Given the description of an element on the screen output the (x, y) to click on. 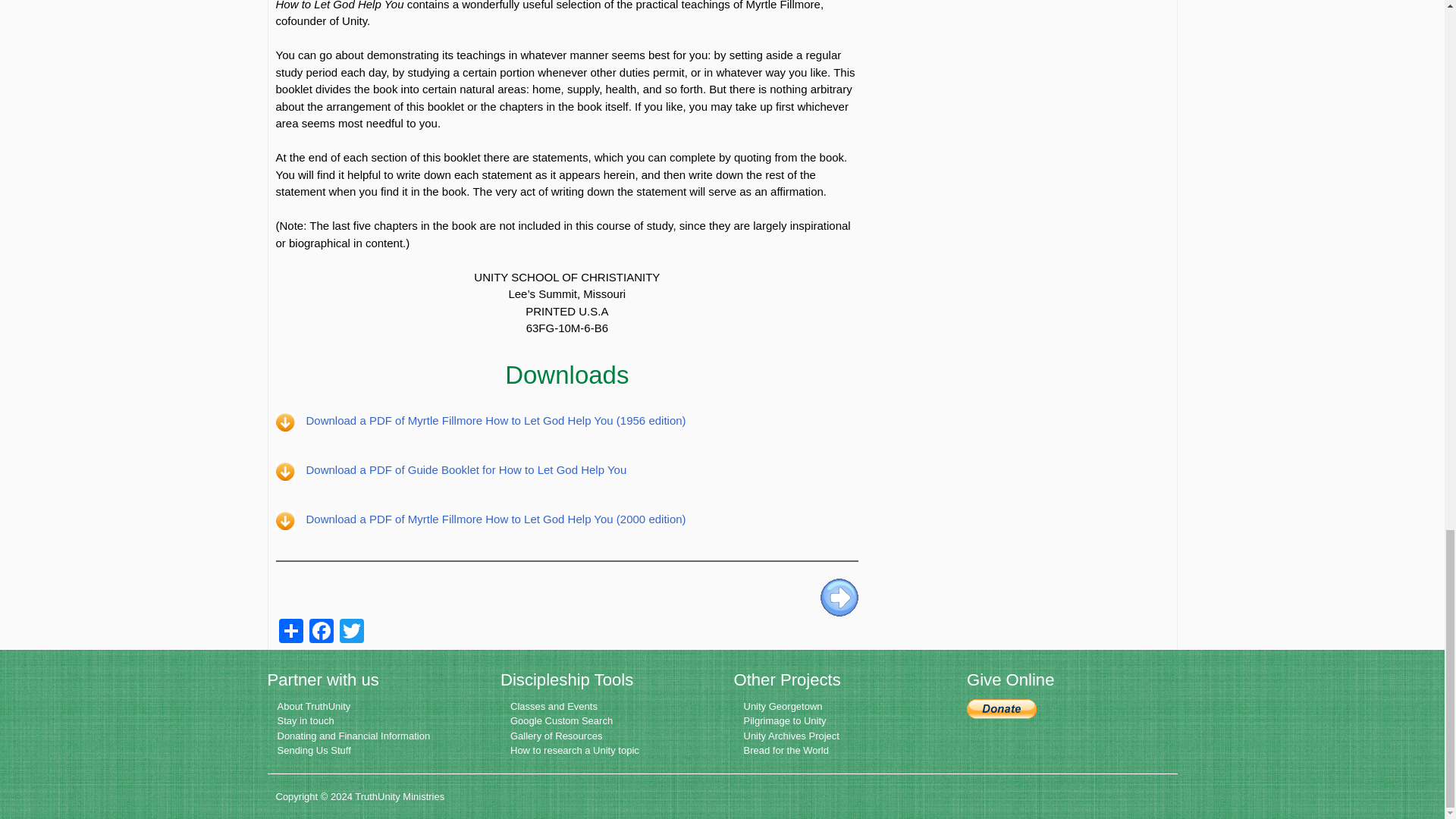
Download PDF of Guide Booklet for How to Let God Help You (466, 469)
